Given the description of an element on the screen output the (x, y) to click on. 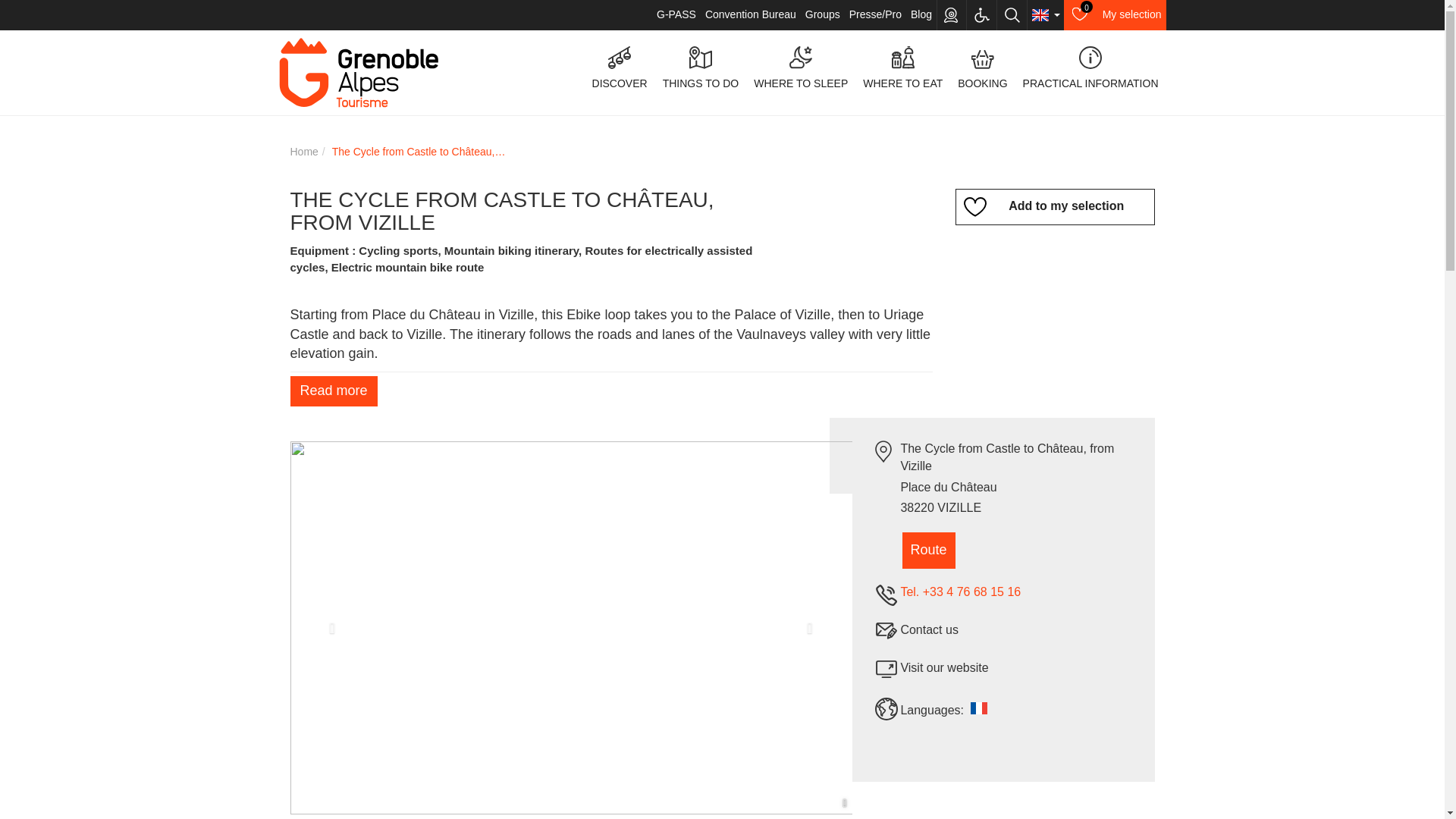
Groups (823, 14)
Webcam (951, 14)
G-PASS (676, 14)
DISCOVER (620, 68)
Convention Bureau (750, 14)
French (980, 708)
Blog (1115, 15)
WHERE TO SLEEP (921, 14)
THINGS TO DO (800, 68)
